Given the description of an element on the screen output the (x, y) to click on. 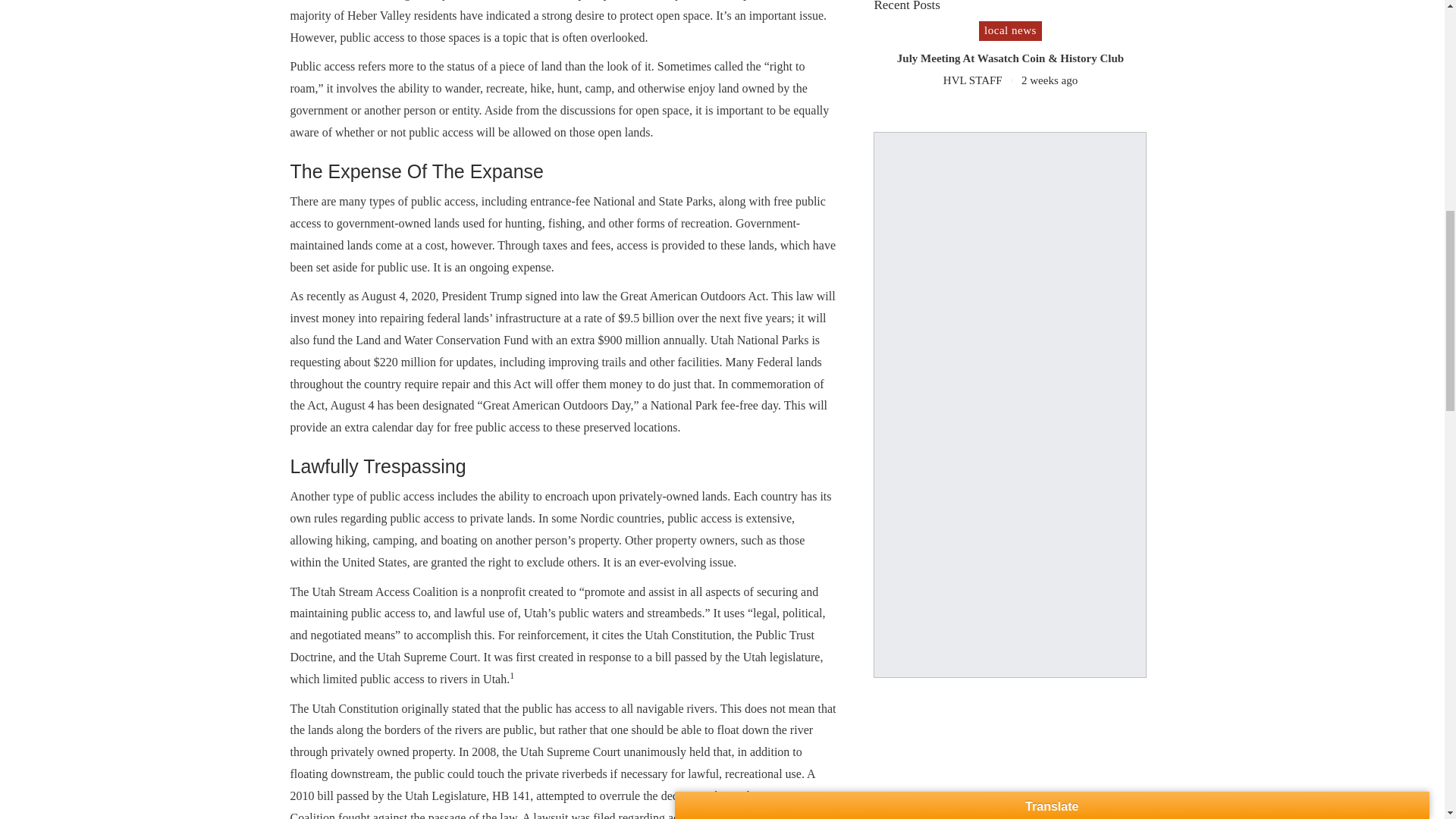
local news (1010, 30)
HVL STAFF (982, 80)
Browse Author Articles (982, 80)
